Given the description of an element on the screen output the (x, y) to click on. 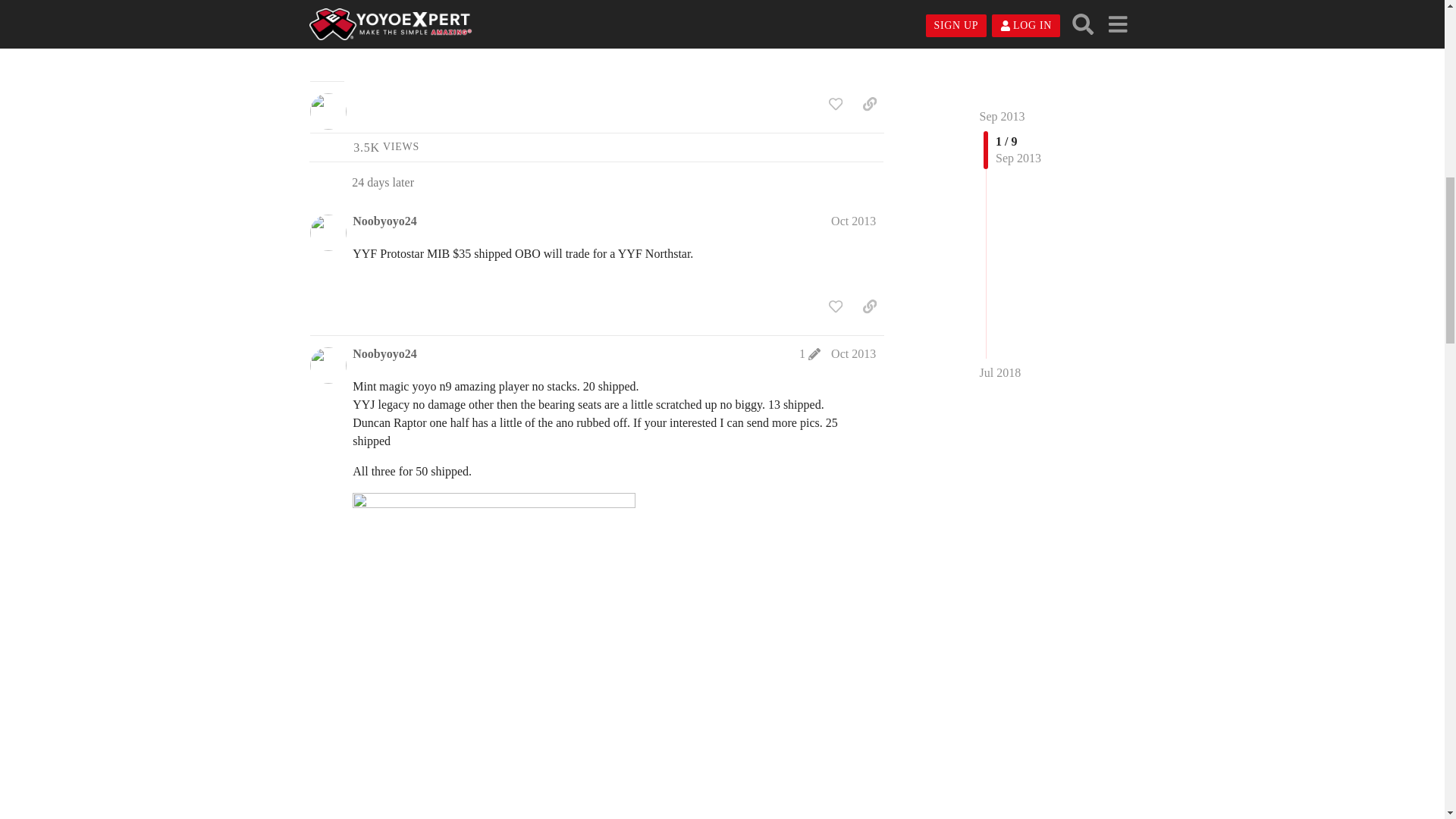
1 (809, 354)
Oct 2013 (853, 220)
Noobyoyo24 (386, 147)
Post date (384, 221)
copy a link to this post to clipboard (853, 220)
Noobyoyo24 (869, 103)
Please sign up or log in to like this post (384, 353)
Please sign up or log in to like this post (835, 103)
Oct 2013 (835, 306)
